Given the description of an element on the screen output the (x, y) to click on. 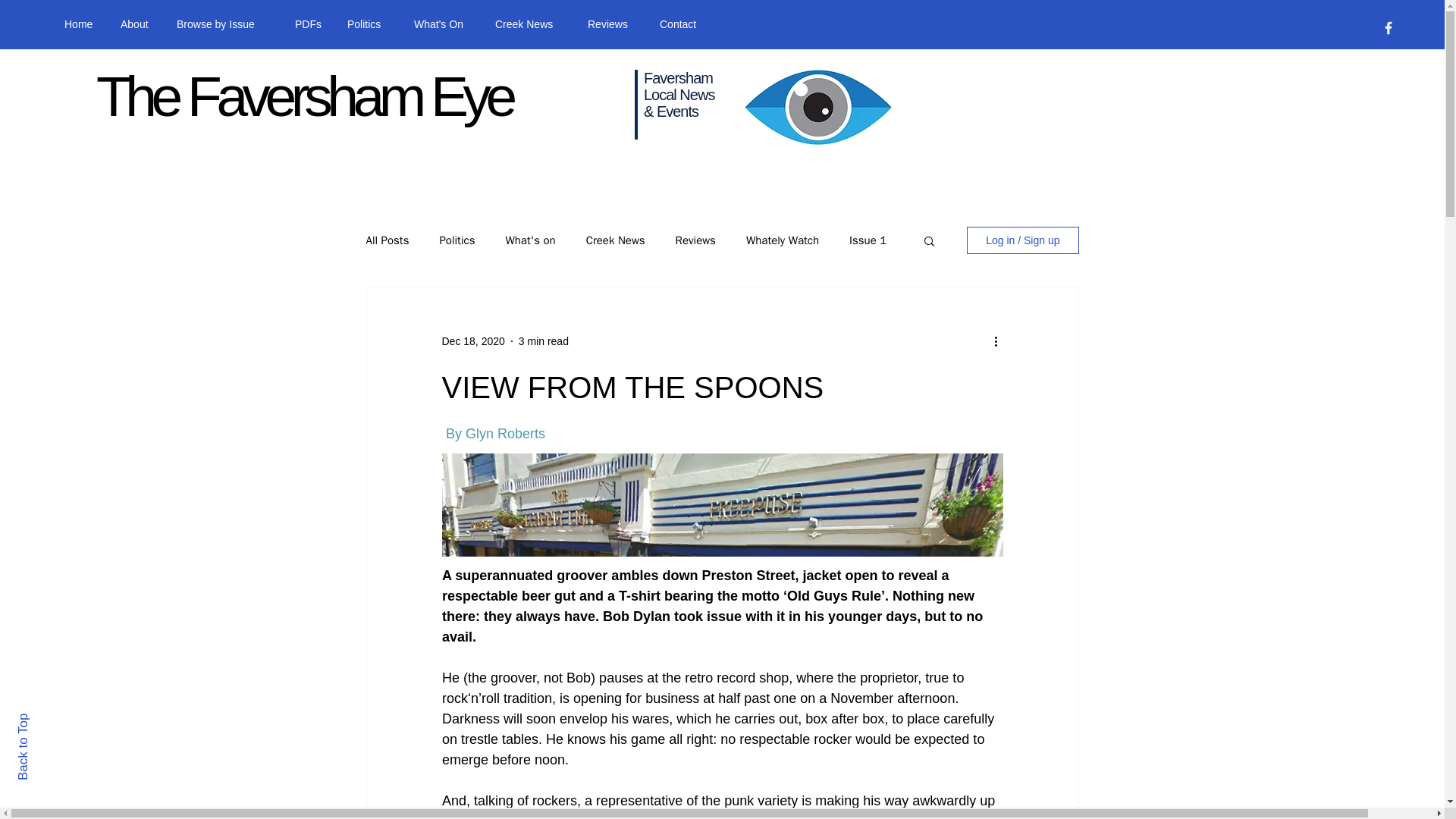
Home (80, 24)
PDFs (309, 24)
Dec 18, 2020 (472, 340)
About (137, 24)
faversham-eye-175377667-1562167526347.jp (817, 107)
3 min read (543, 340)
